Given the description of an element on the screen output the (x, y) to click on. 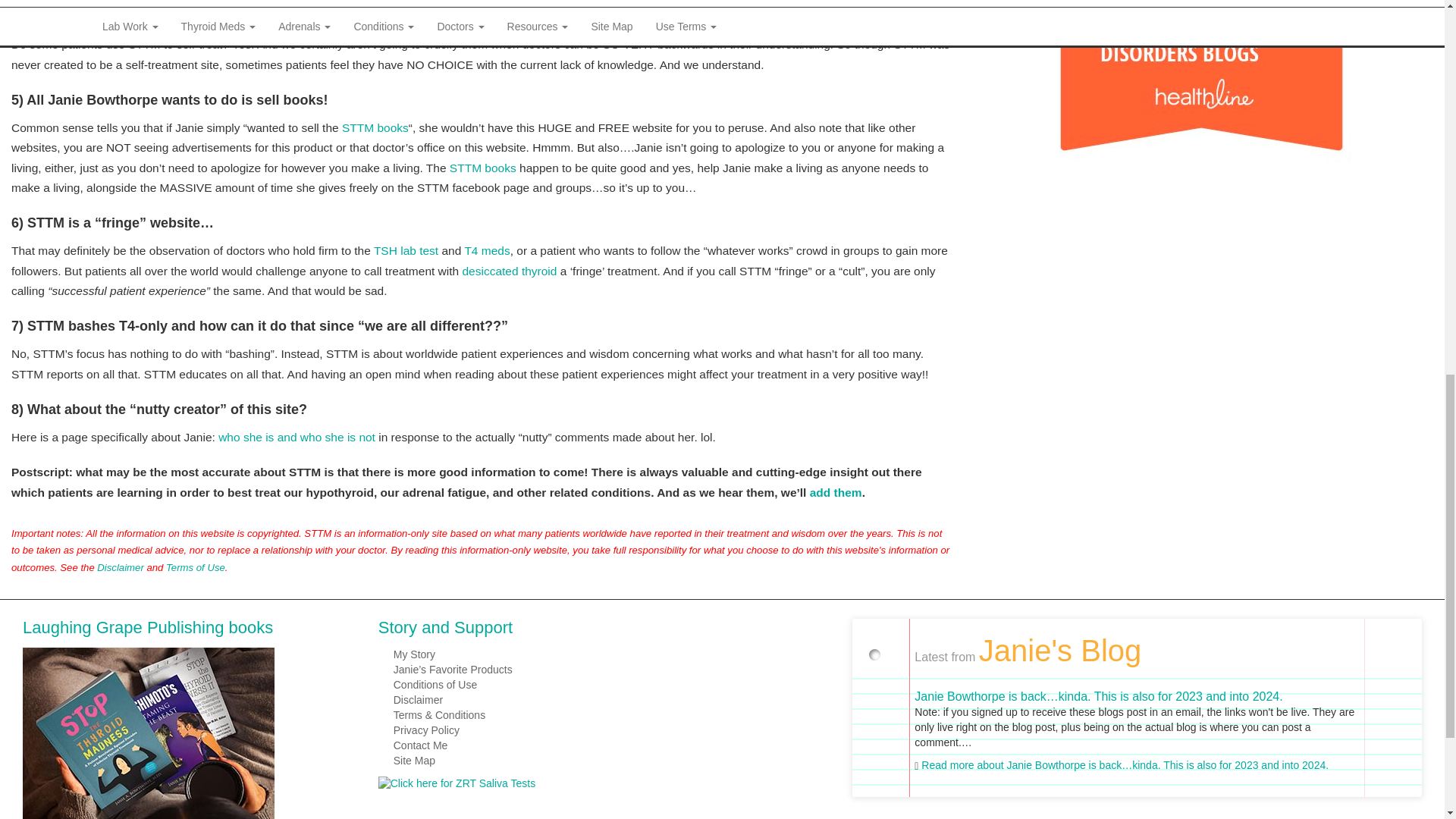
Laughing Grape Publishing (149, 739)
